Given the description of an element on the screen output the (x, y) to click on. 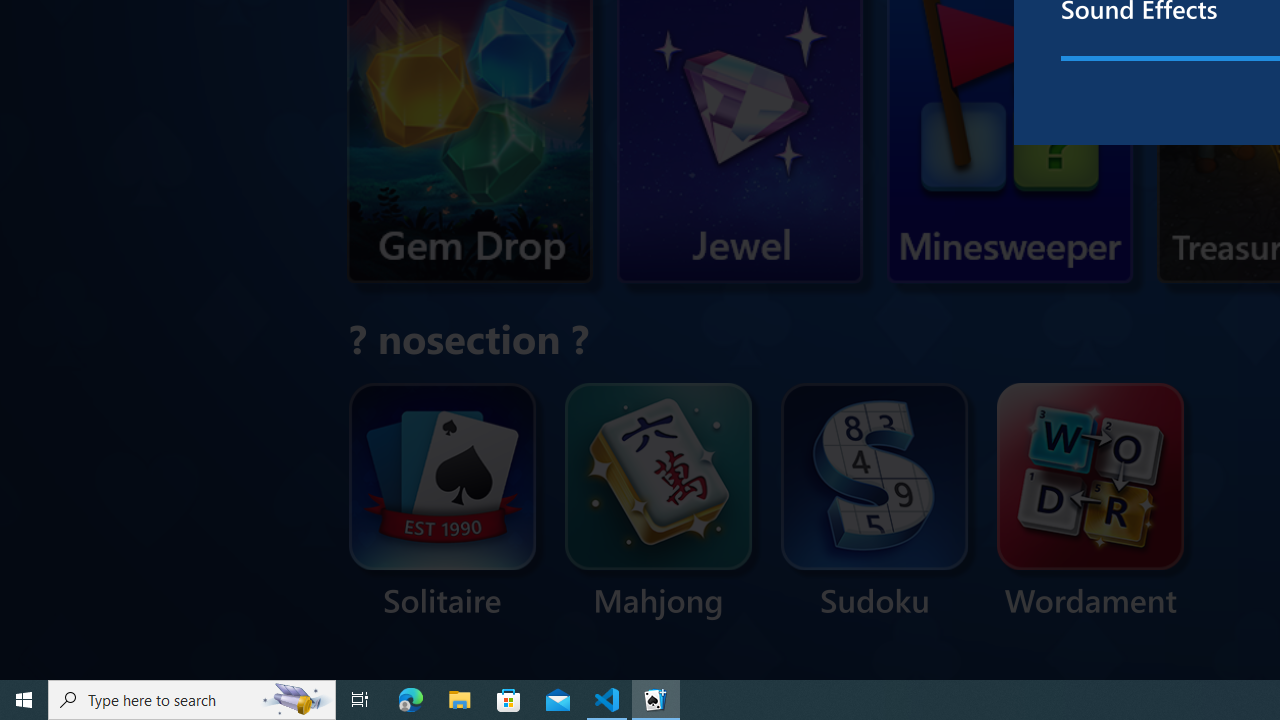
Microsoft Edge (411, 699)
File Explorer (460, 699)
Sudoku (875, 502)
Mahjong (659, 502)
Wordament (1090, 502)
Solitaire (442, 502)
Solitaire & Casual Games - 1 running window (656, 699)
